Given the description of an element on the screen output the (x, y) to click on. 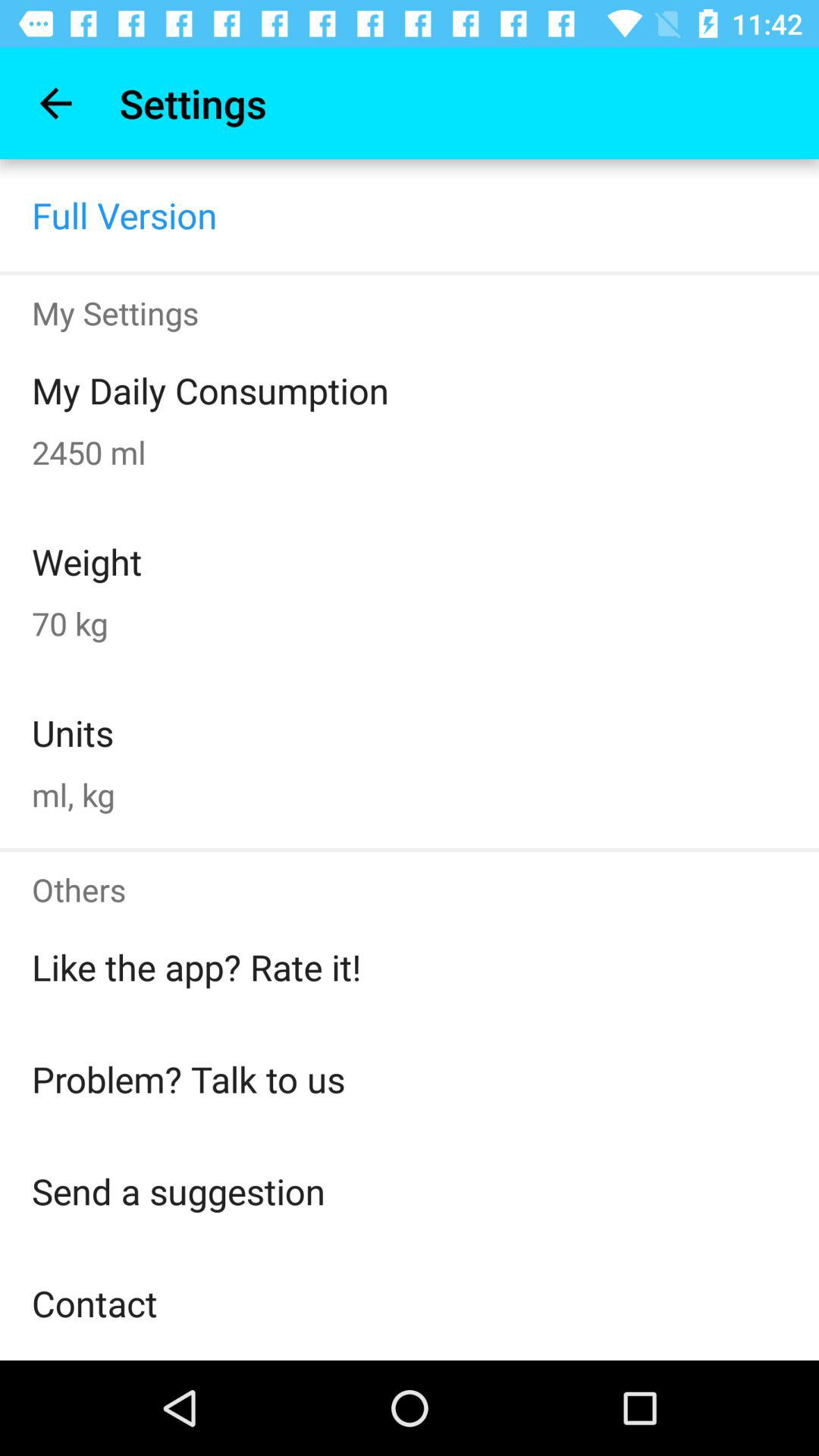
select item next to settings icon (55, 103)
